Given the description of an element on the screen output the (x, y) to click on. 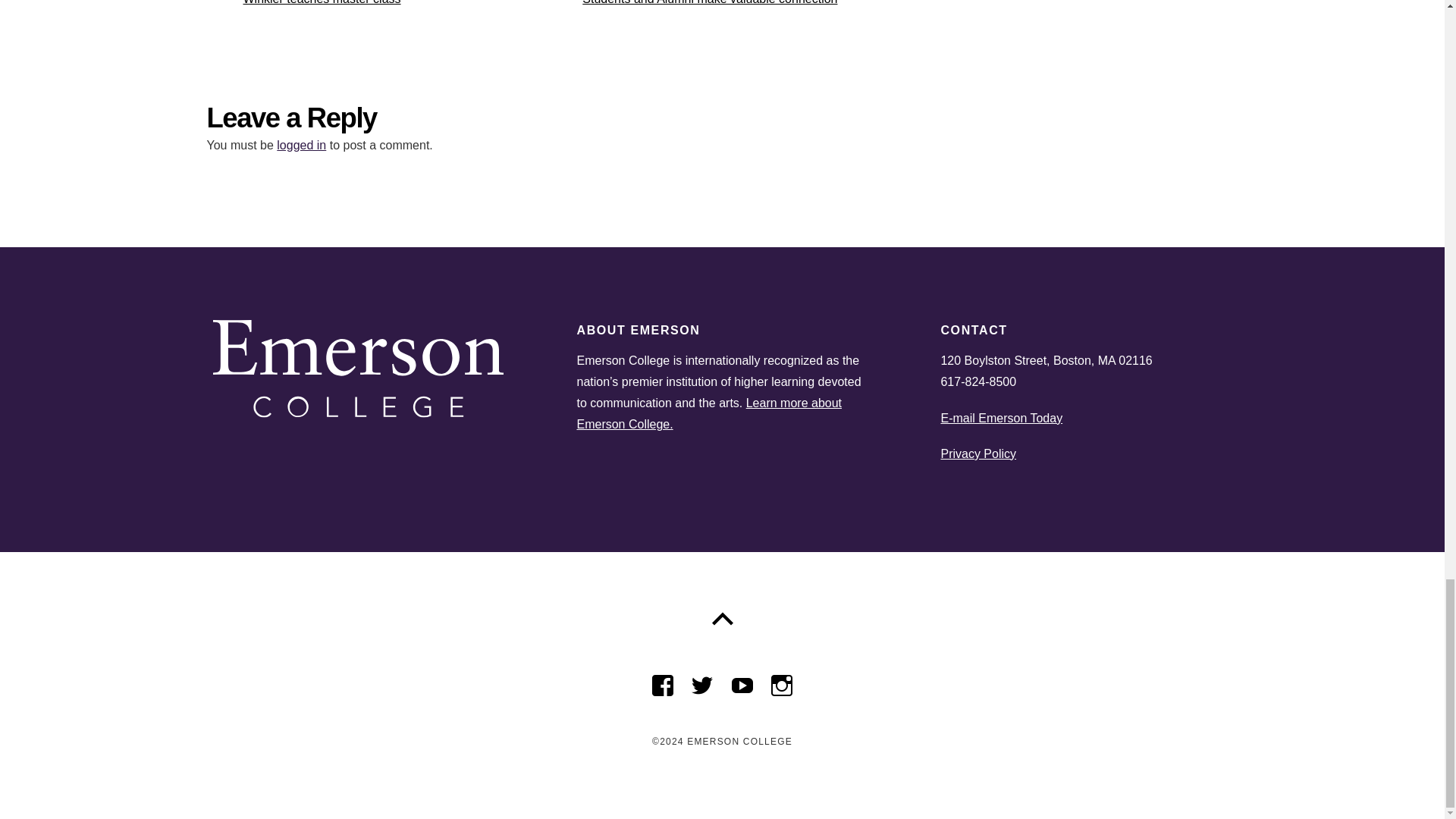
logged in (706, 13)
